Given the description of an element on the screen output the (x, y) to click on. 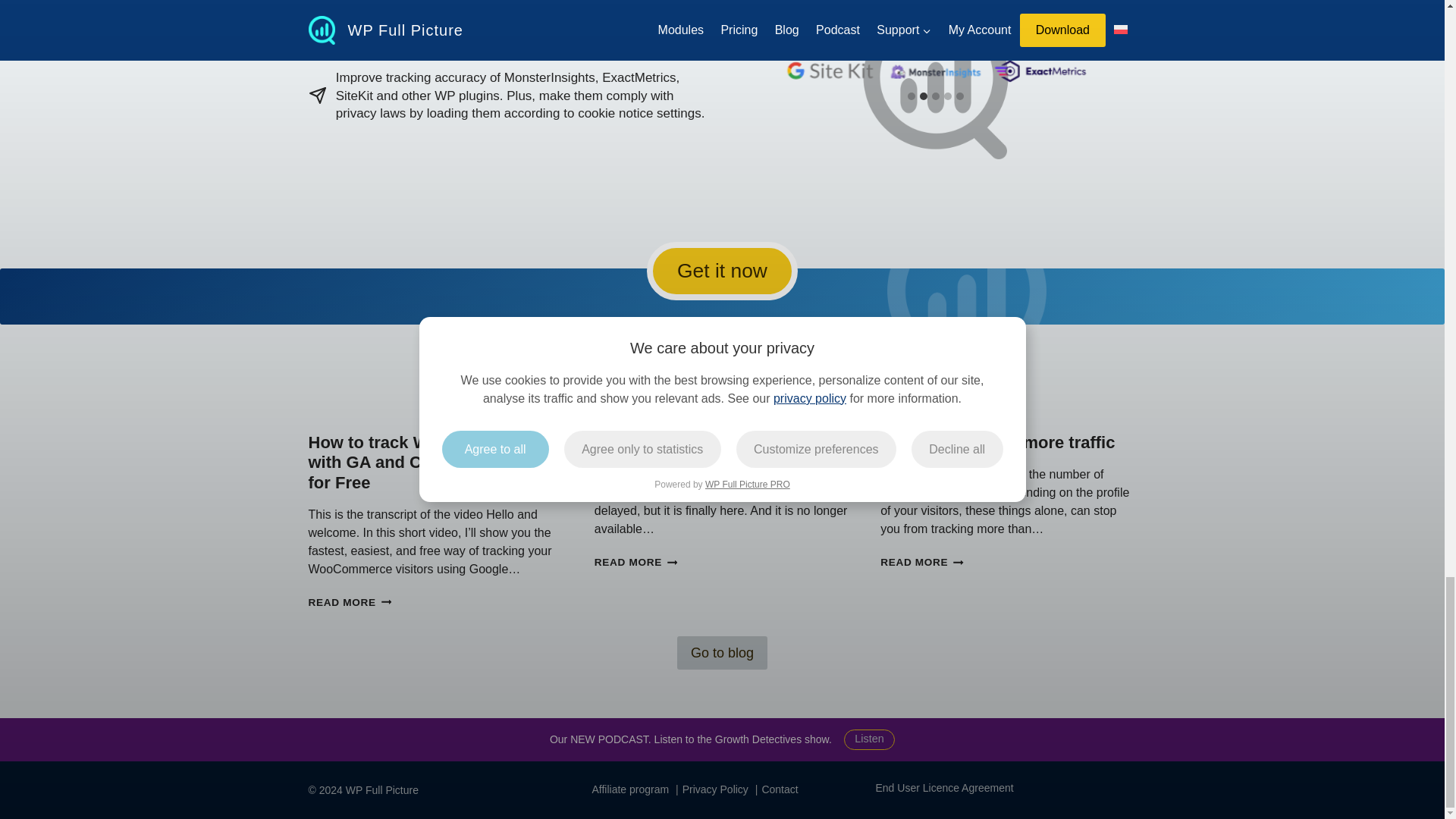
Get it now (721, 270)
Update 7.1 release information (715, 442)
Listen (869, 739)
Go to blog (636, 562)
Contact (722, 652)
Home 9 (779, 789)
End User Licence Agreement (828, 70)
Affiliate program (944, 787)
